Given the description of an element on the screen output the (x, y) to click on. 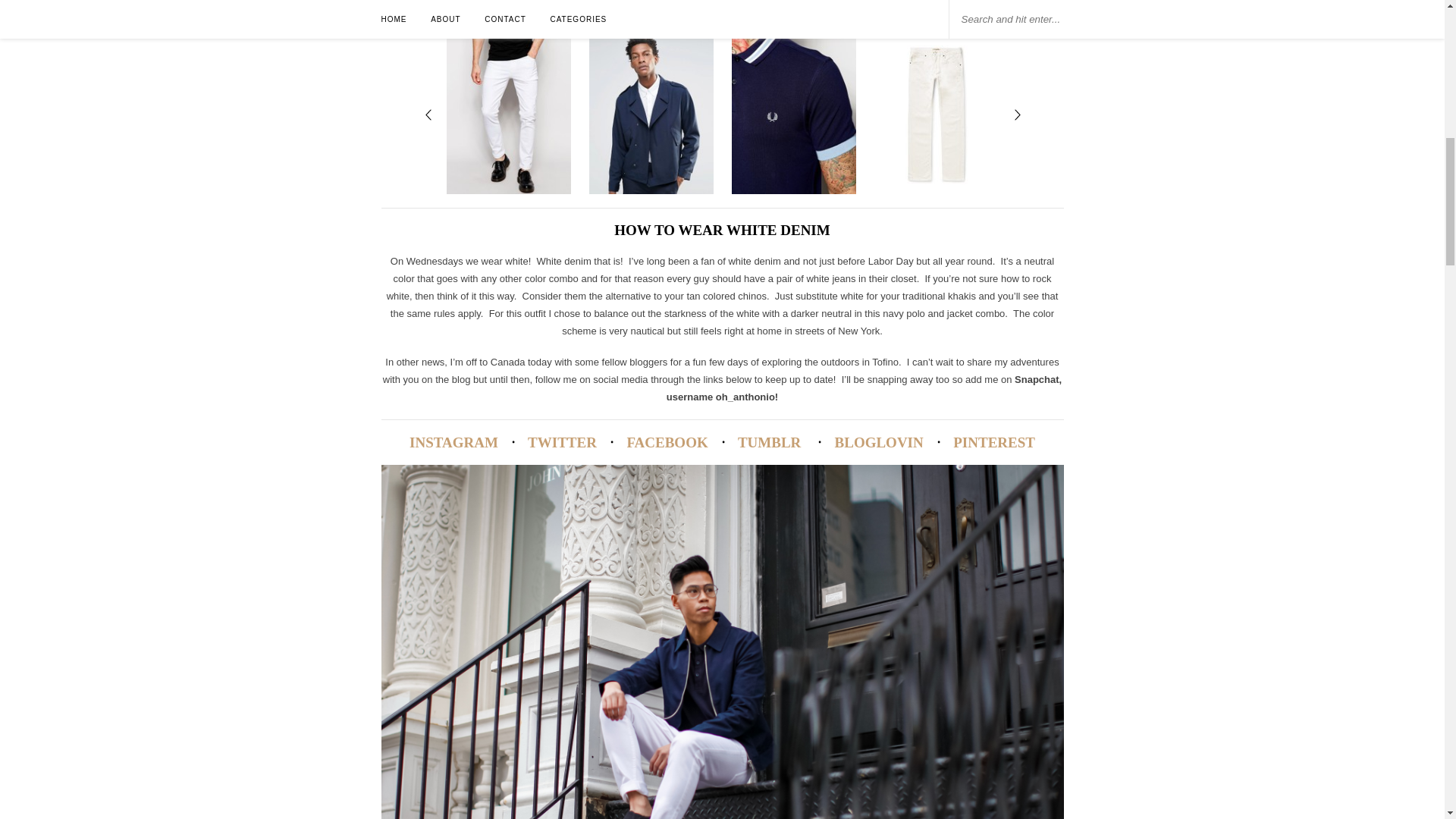
FACEBOOK (666, 442)
TWITTER (561, 442)
INSTAGRAM (453, 442)
